Given the description of an element on the screen output the (x, y) to click on. 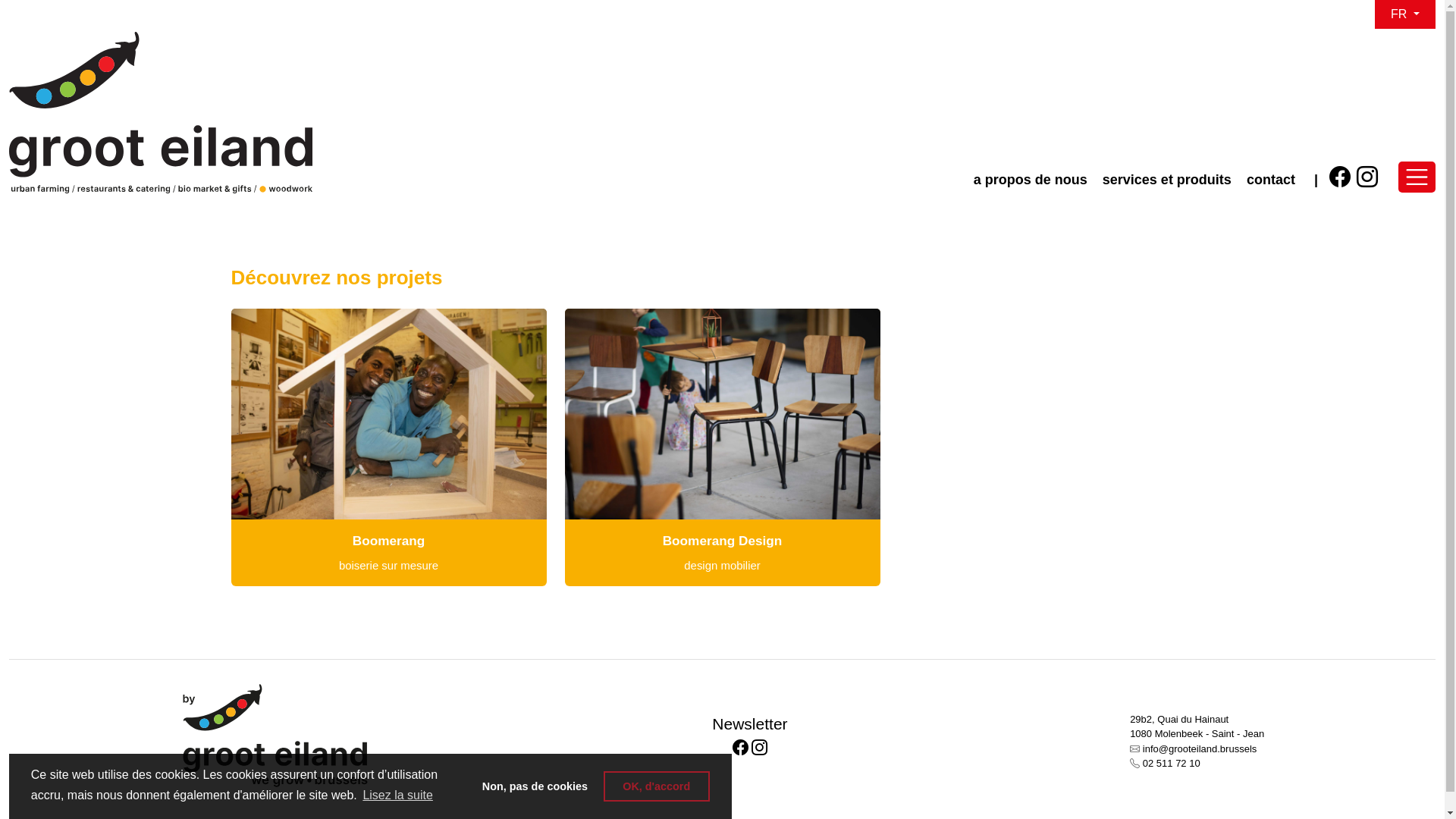
Lisez la suite Element type: text (397, 795)
services et produits Element type: text (1166, 179)
29b2, Quai du Hainaut
1080 Molenbeek - Saint - Jean Element type: text (1196, 733)
OK, d'accord Element type: text (656, 786)
info@grooteiland.brussels Element type: text (1199, 748)
02 511 72 10 Element type: text (1171, 762)
FR Element type: text (1404, 14)
contact Element type: text (1270, 179)
a propos de nous Element type: text (1030, 179)
Boomerang Design
design mobilier Element type: text (721, 447)
Non, pas de cookies Element type: text (534, 786)
Newsletter Element type: text (749, 723)
Boomerang
boiserie sur mesure Element type: text (388, 447)
